Given the description of an element on the screen output the (x, y) to click on. 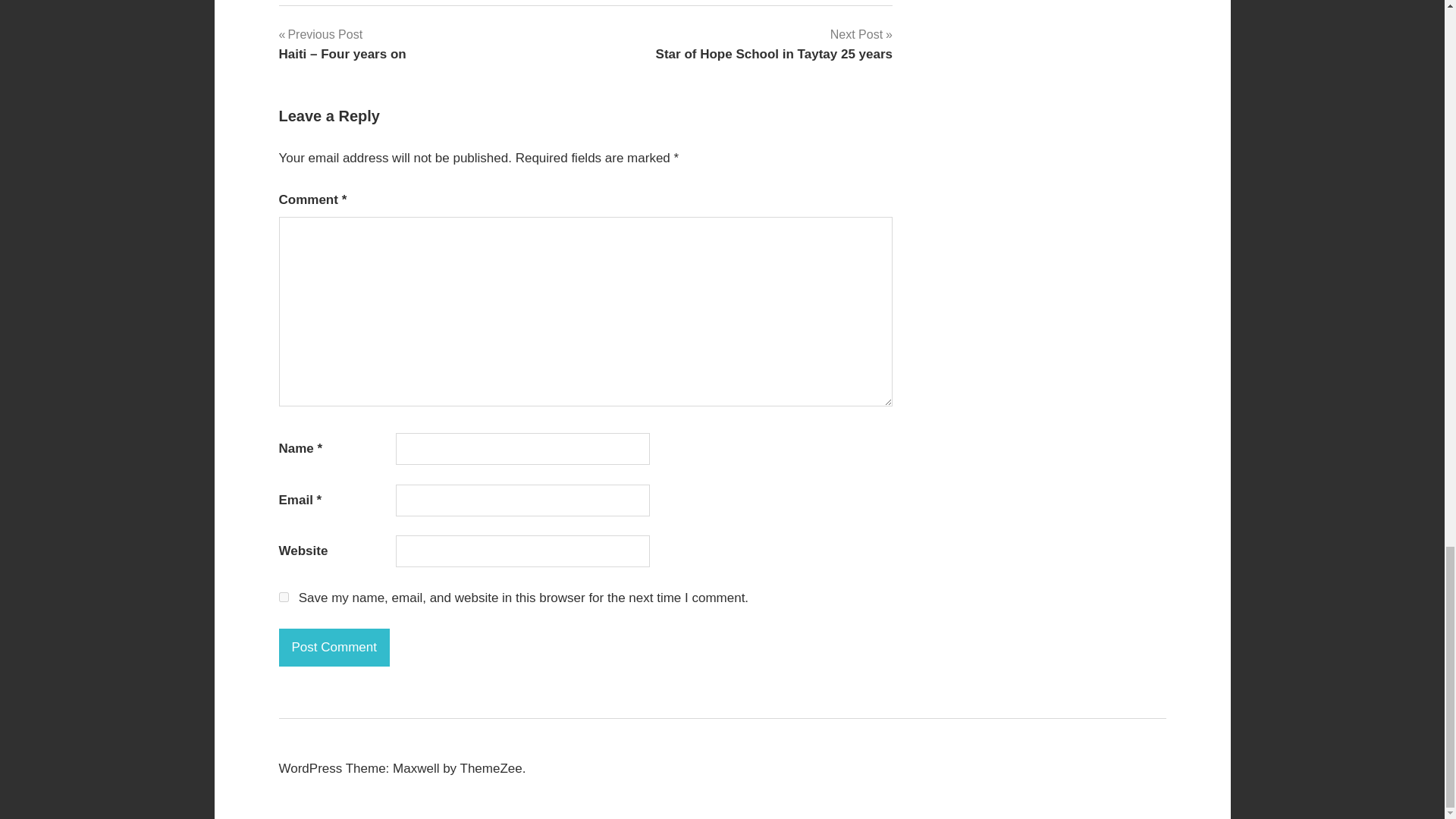
Post Comment (334, 647)
Post Comment (334, 647)
yes (774, 43)
